Given the description of an element on the screen output the (x, y) to click on. 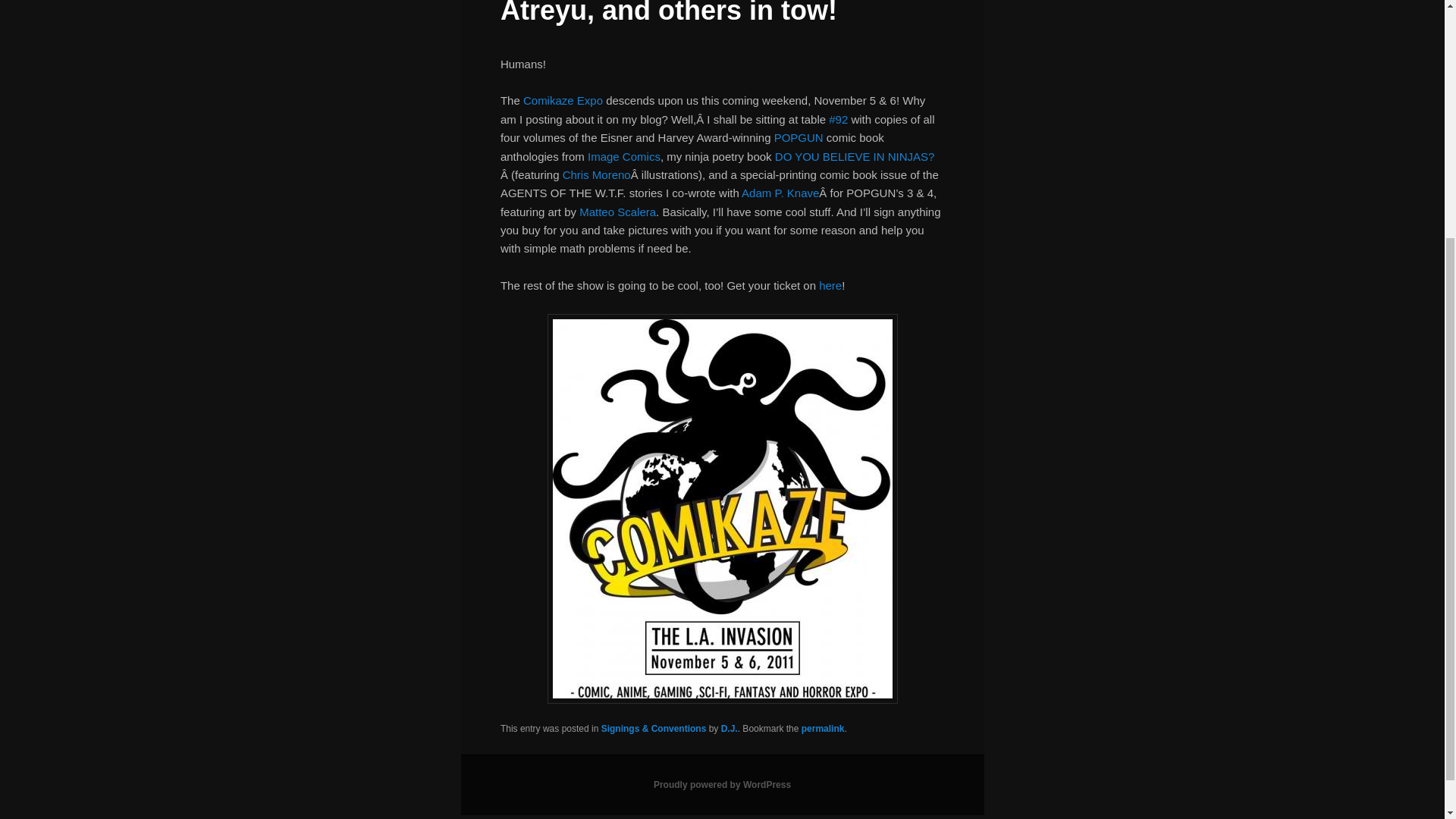
permalink (823, 728)
here (829, 285)
D.J. (729, 728)
Comikaze Expo (562, 100)
Adam P. Knave (779, 192)
Chris Moreno (596, 174)
Semantic Personal Publishing Platform (721, 784)
DO YOU BELIEVE IN NINJAS? (854, 155)
Matteo Scalera (617, 211)
POPGUN (799, 137)
Proudly powered by WordPress (721, 784)
Image Comics (624, 155)
